Given the description of an element on the screen output the (x, y) to click on. 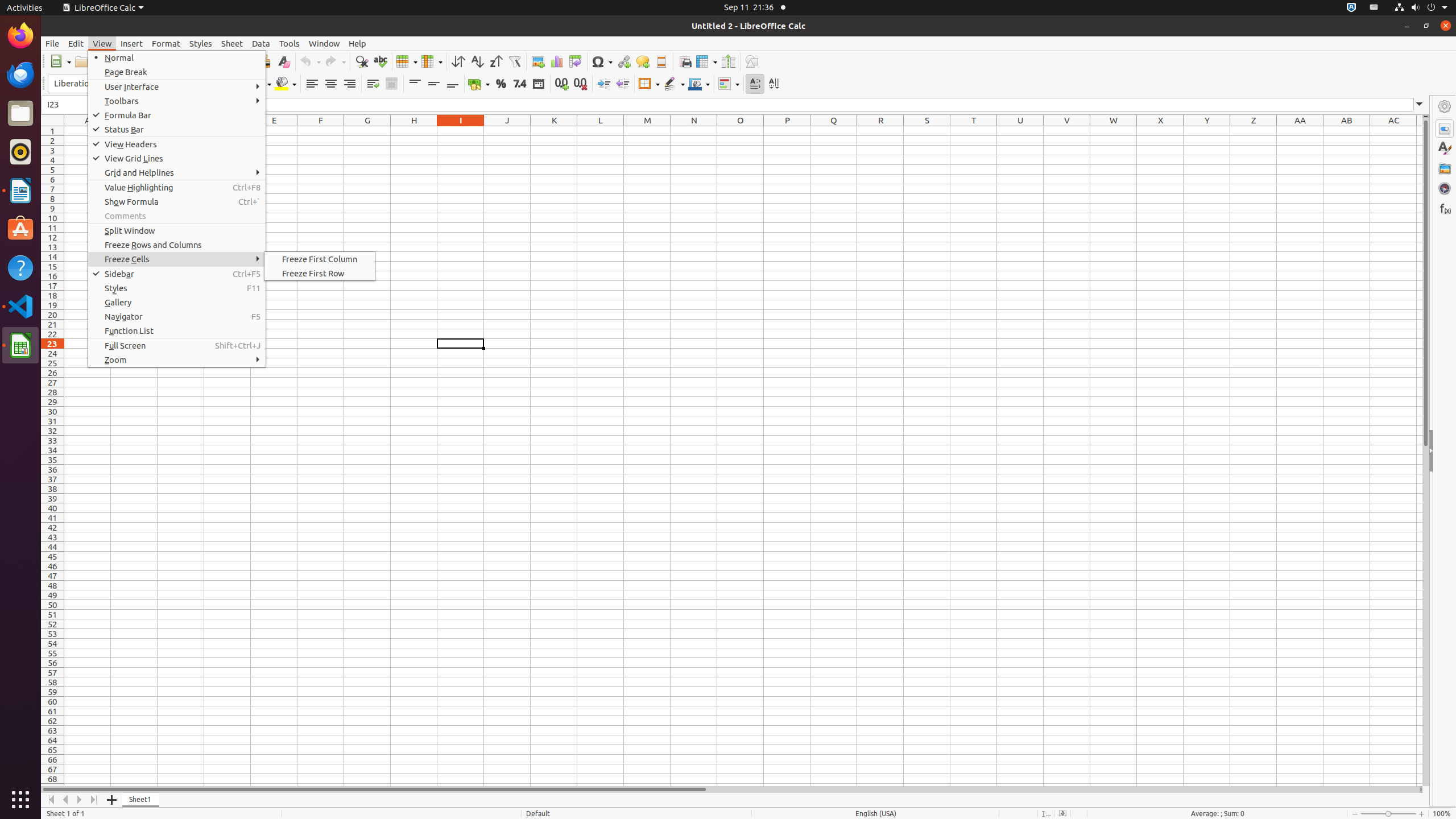
LibreOffice Calc Element type: menu (102, 7)
Borders (Shift to overwrite) Element type: push-button (648, 83)
LibreOffice Calc Element type: push-button (20, 344)
Redo Element type: push-button (334, 61)
AC1 Element type: table-cell (1393, 130)
